Given the description of an element on the screen output the (x, y) to click on. 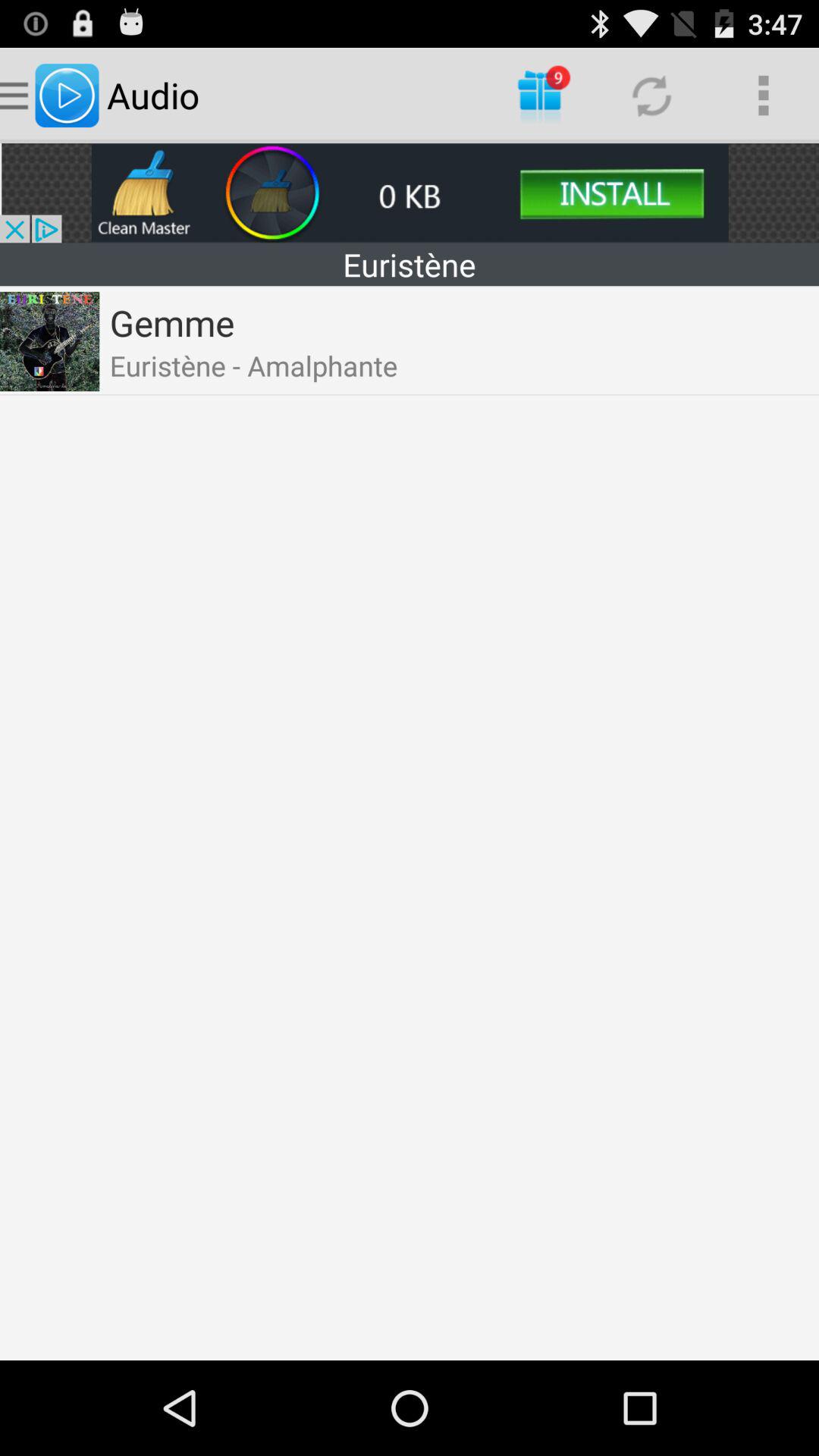
click on advertisement (409, 192)
